Given the description of an element on the screen output the (x, y) to click on. 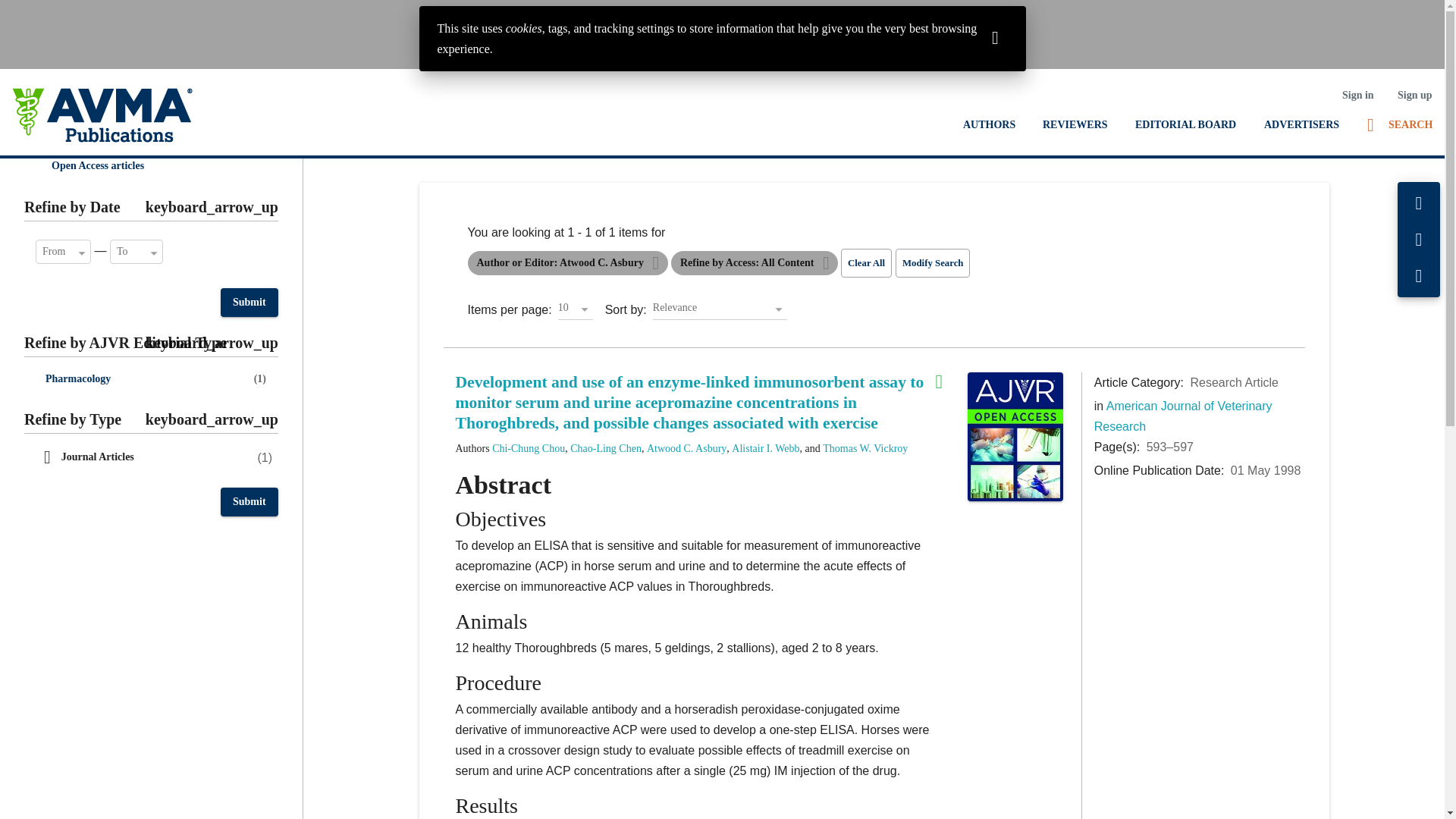
Sign in (1358, 95)
Jump to Content (45, 11)
Dismiss this warning (994, 37)
AUTHORS (988, 124)
